Given the description of an element on the screen output the (x, y) to click on. 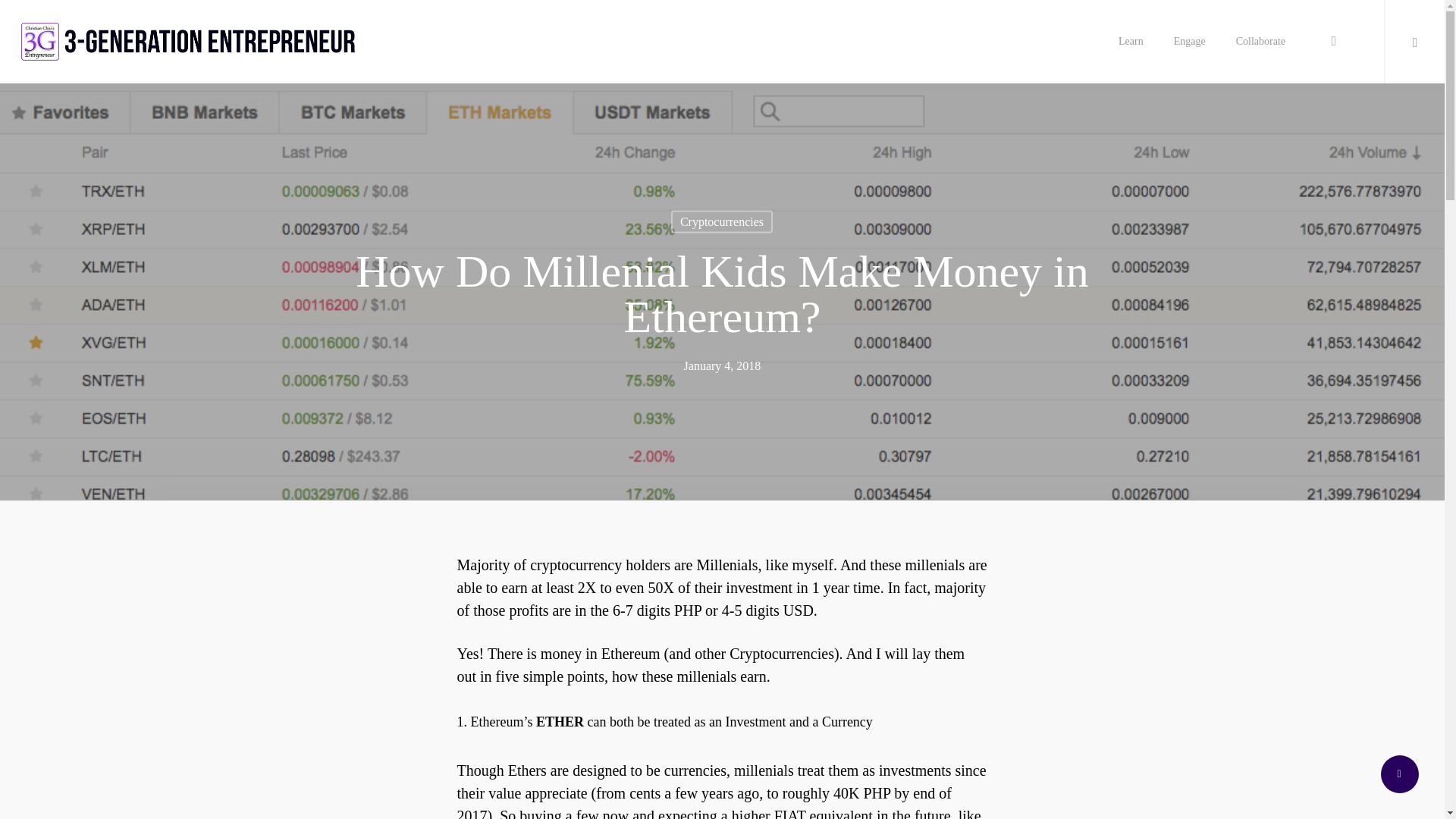
Cryptocurrencies (722, 221)
Facebook (1333, 41)
Collaborate (1260, 41)
Learn (1130, 41)
Engage (1189, 41)
